Given the description of an element on the screen output the (x, y) to click on. 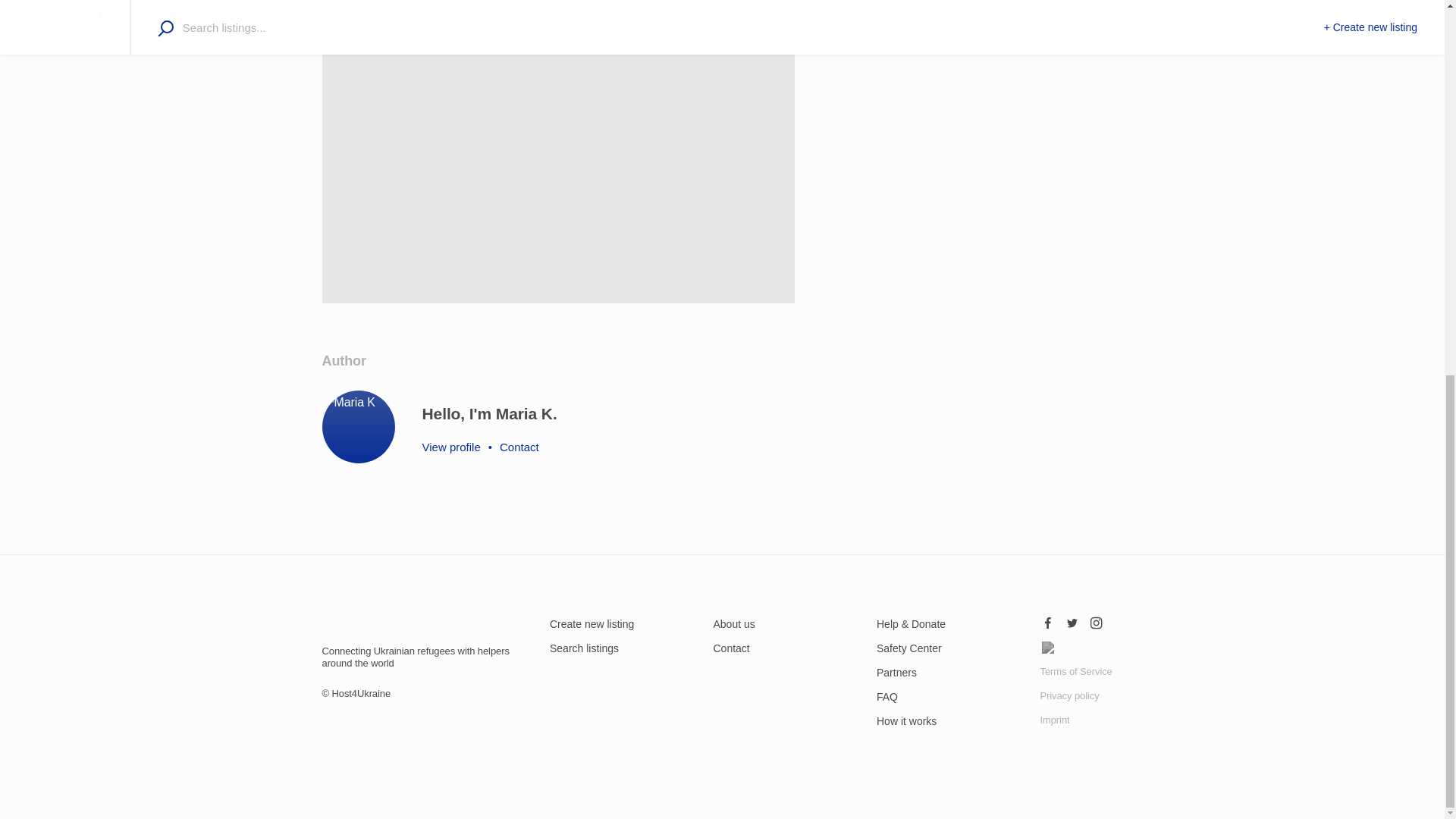
How it works (906, 720)
Imprint (1055, 719)
Create new listing (591, 623)
Go to Instagram page (1096, 619)
Go to Instagram page (1048, 643)
Partners (896, 672)
FAQ (887, 696)
About us (733, 623)
Go to Facebook page (1048, 619)
Contact (731, 648)
Go to Twitter page (1072, 619)
View profile (451, 446)
Safety Center (909, 648)
Terms of Service (1076, 671)
Privacy policy (1070, 695)
